Given the description of an element on the screen output the (x, y) to click on. 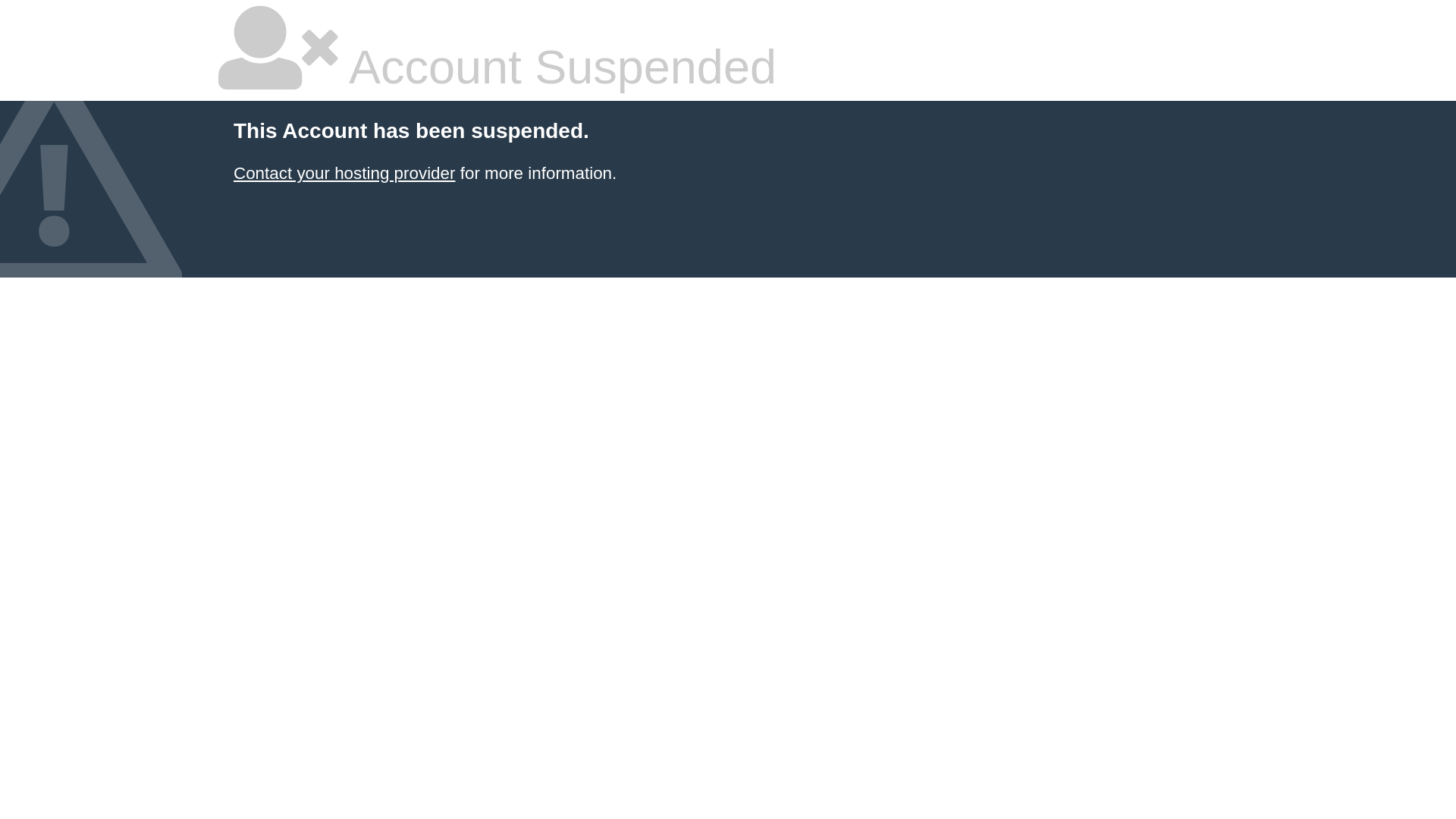
Contact your hosting provider Element type: text (344, 172)
